Given the description of an element on the screen output the (x, y) to click on. 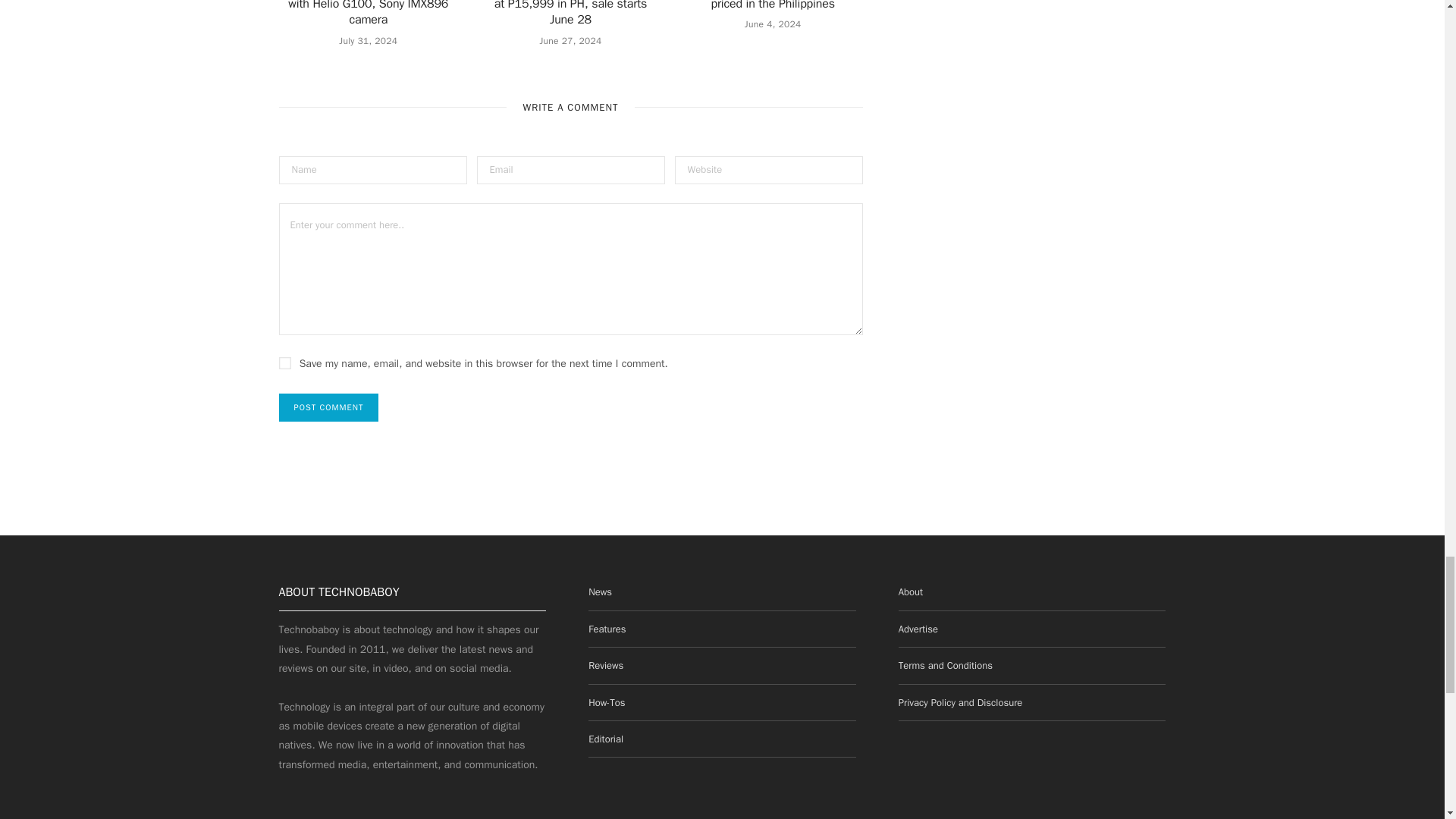
yes (285, 363)
Post Comment (328, 407)
July 31, 2024 (368, 40)
